Given the description of an element on the screen output the (x, y) to click on. 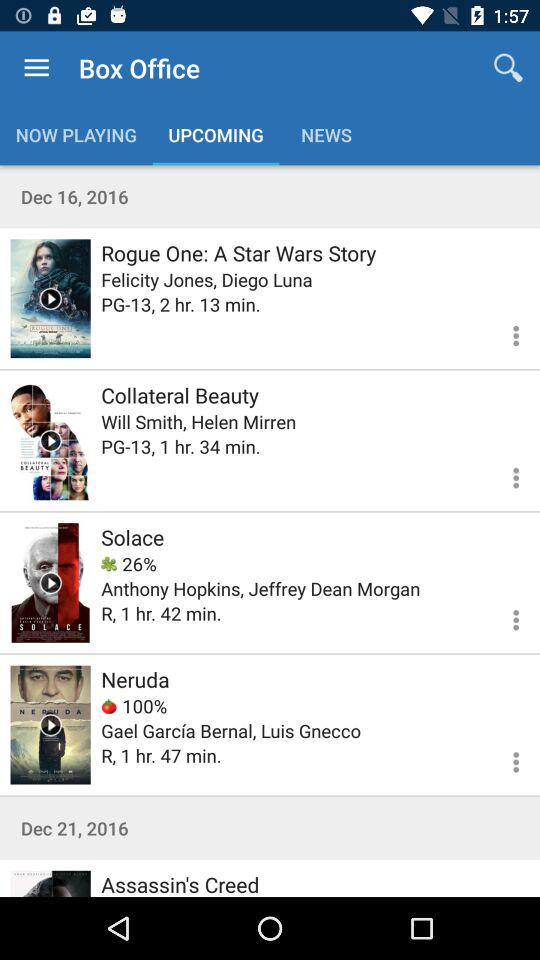
play trailer (50, 298)
